Given the description of an element on the screen output the (x, y) to click on. 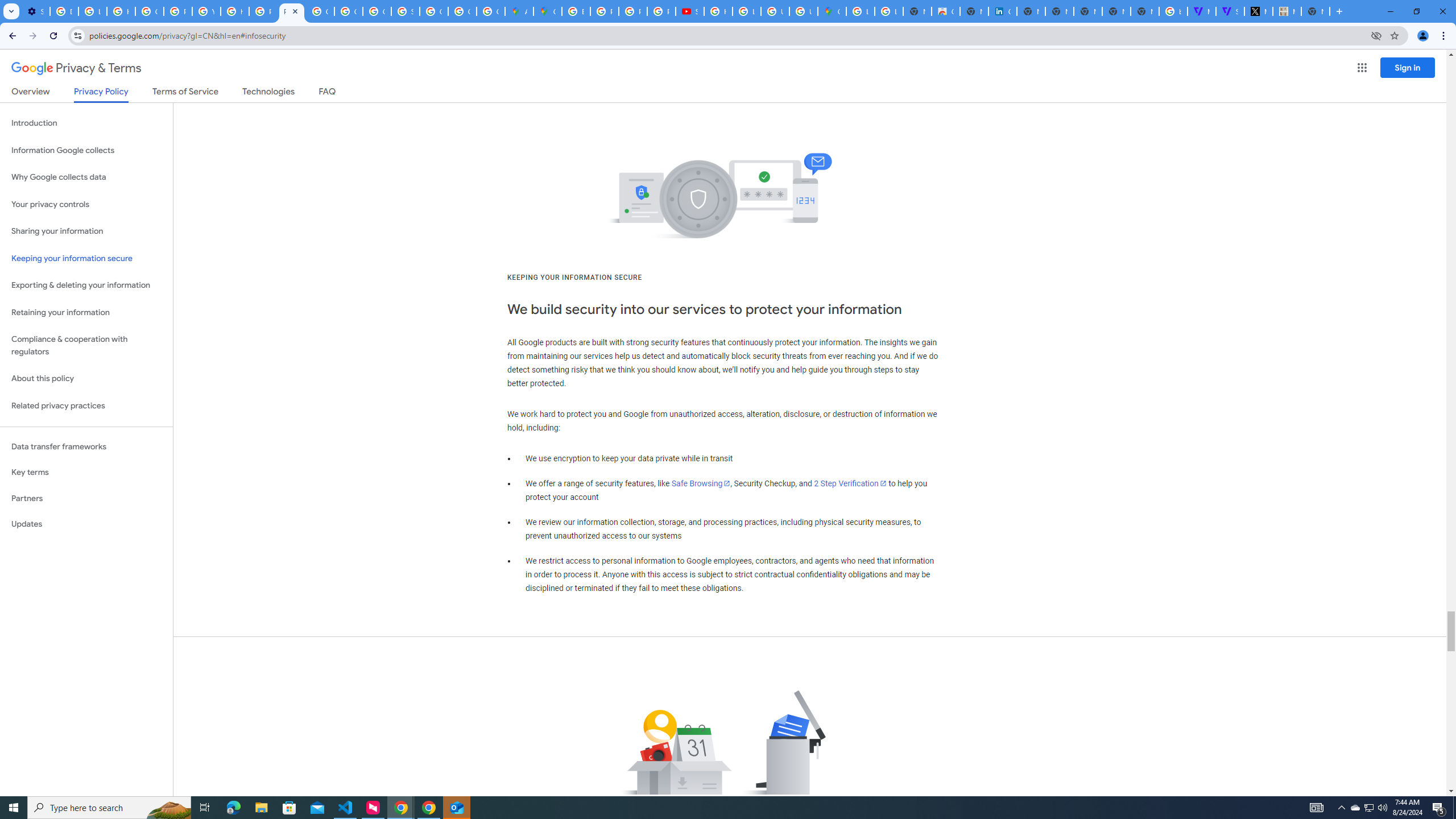
Google Account Help (148, 11)
Data transfer frameworks (86, 446)
https://scholar.google.com/ (234, 11)
Terms of Service (184, 93)
MILEY CYRUS. (1287, 11)
Compliance & cooperation with regulators (86, 345)
Exporting & deleting your information (86, 284)
Miley Cyrus (@MileyCyrus) / X (1258, 11)
Introduction (86, 122)
Why Google collects data (86, 176)
